Given the description of an element on the screen output the (x, y) to click on. 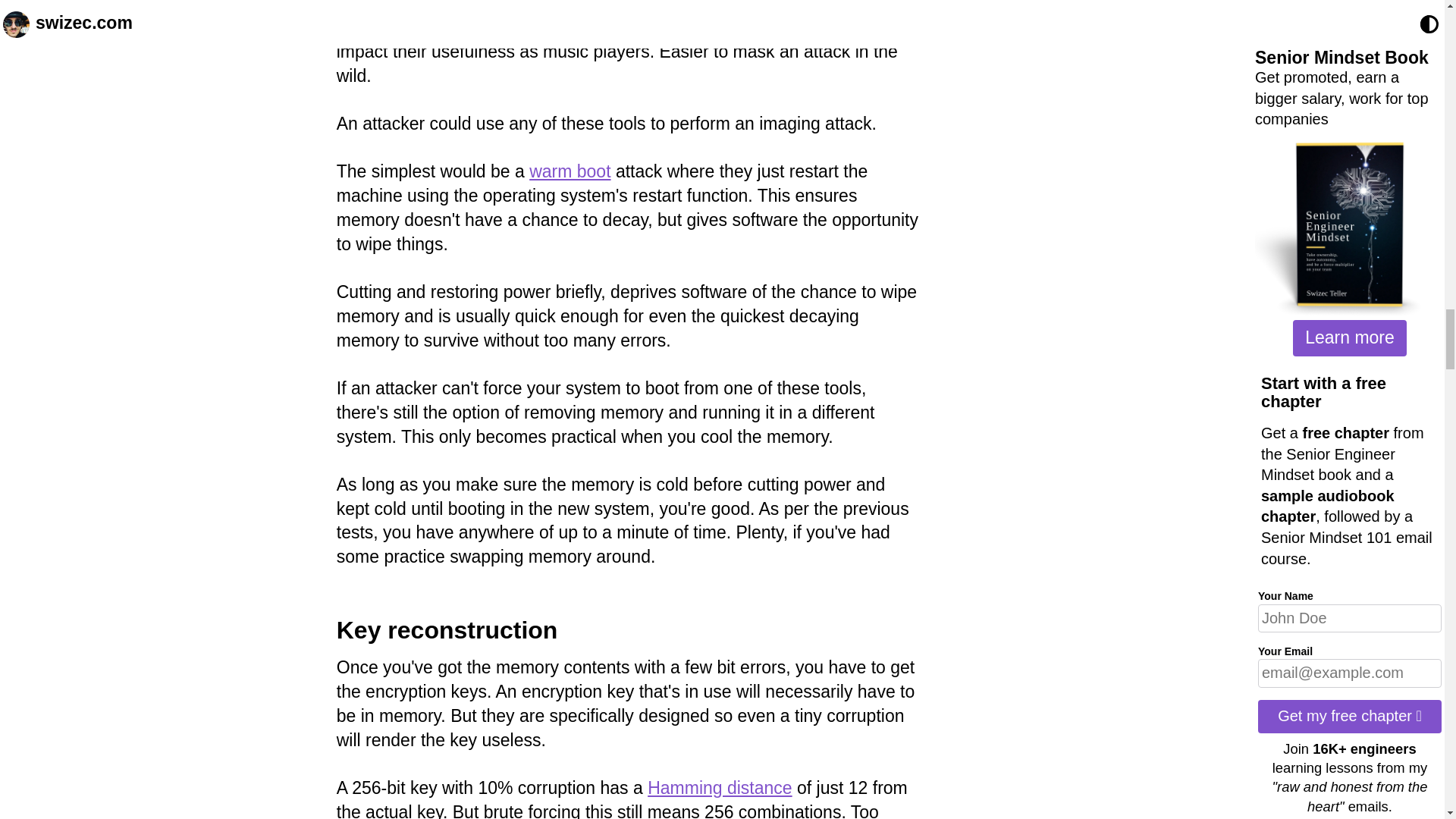
Key reconstruction (446, 629)
Hamming distance (719, 787)
Hamming distance (719, 787)
warm boot (569, 170)
